Given the description of an element on the screen output the (x, y) to click on. 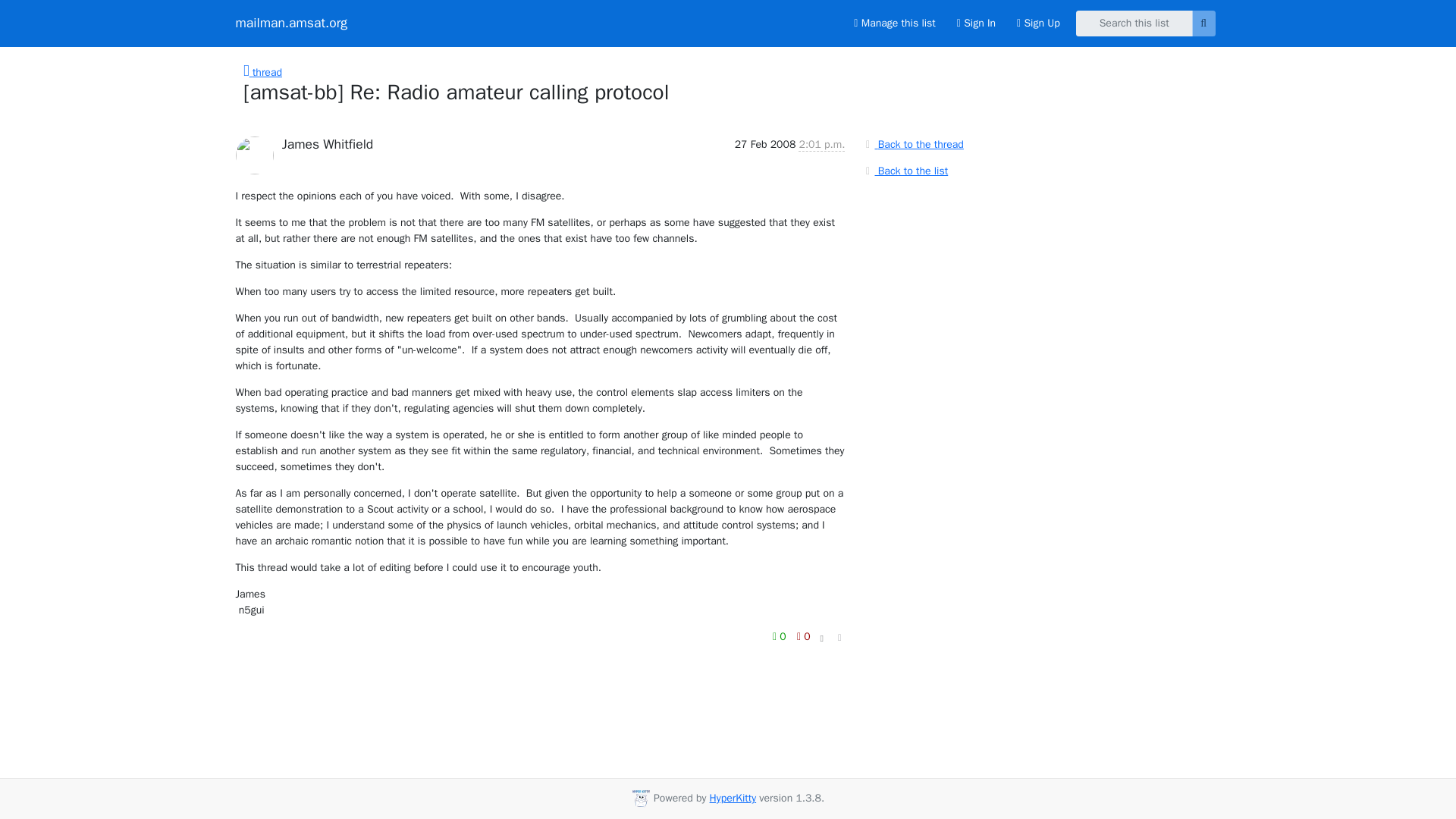
Sign In (976, 22)
Manage this list (893, 22)
0 (803, 636)
HyperKitty (733, 797)
Back to the list (903, 169)
Back to the thread (911, 144)
You must be logged-in to vote. (780, 636)
Sign Up (1038, 22)
thread (262, 72)
Sender's time: Feb. 27, 2008, 3:01 p.m. (820, 144)
